Given the description of an element on the screen output the (x, y) to click on. 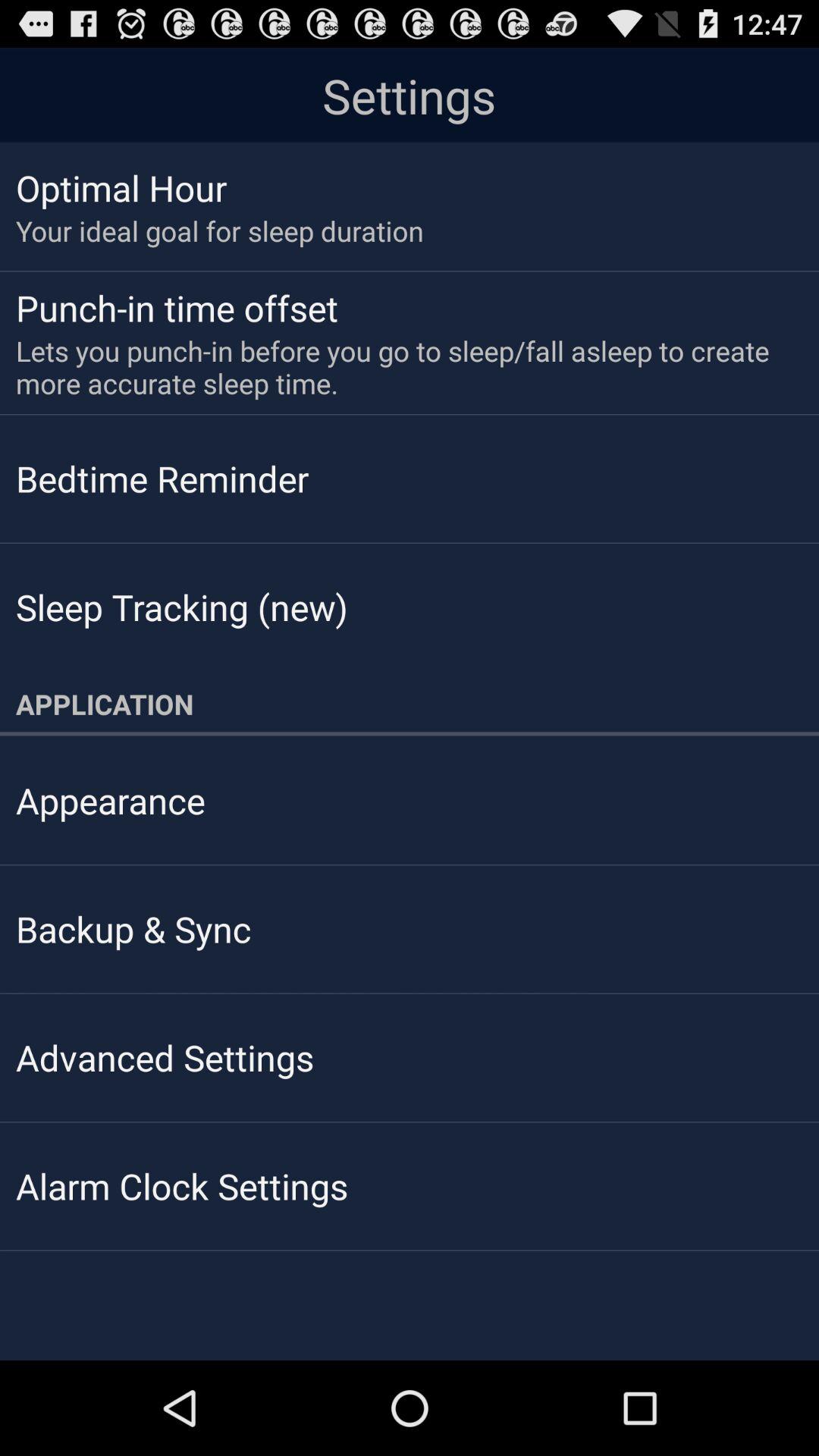
select the item below the sleep tracking (new) (409, 703)
